Given the description of an element on the screen output the (x, y) to click on. 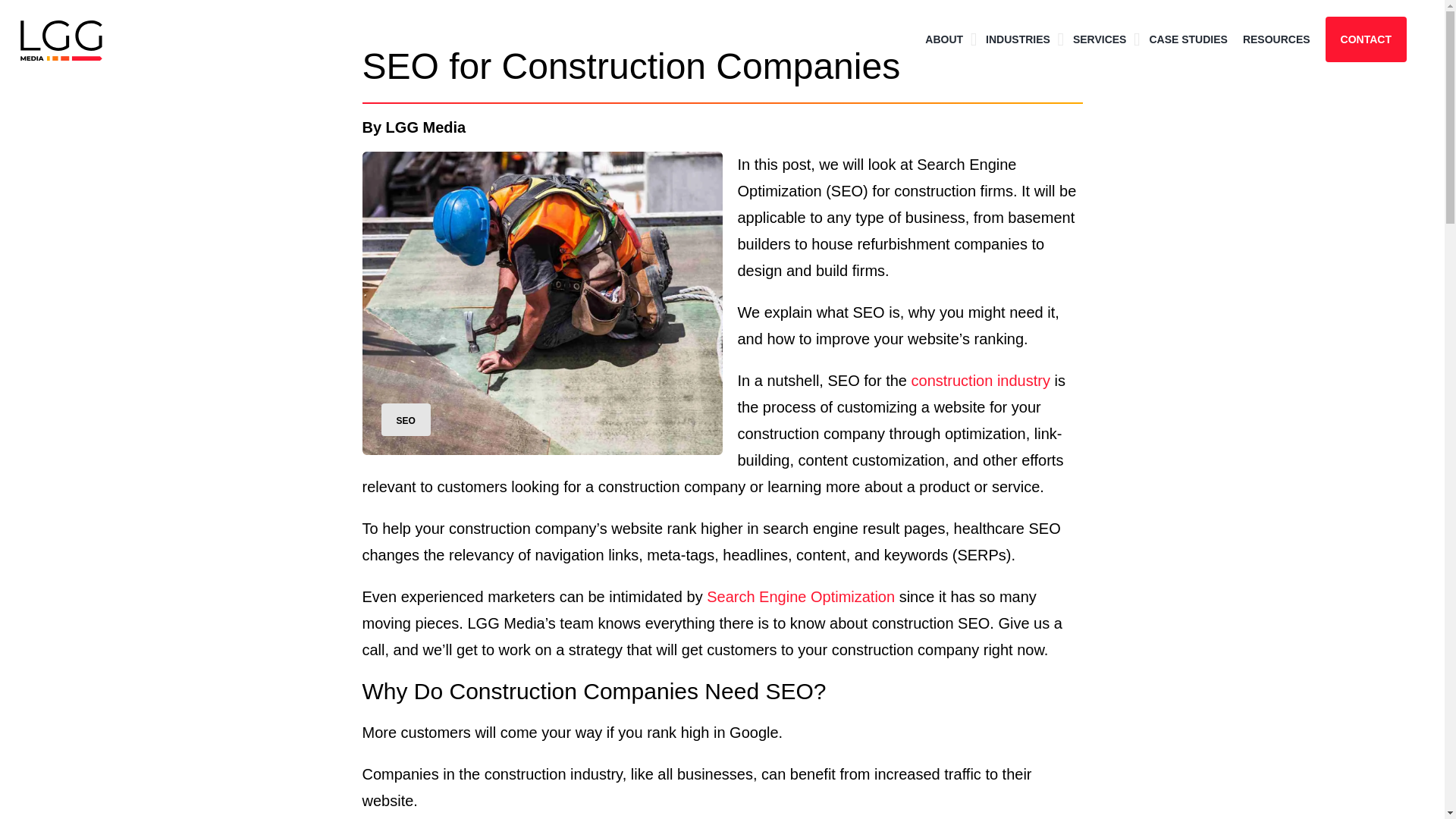
ABOUT (943, 39)
CASE STUDIES (1187, 39)
CONTACT (1365, 38)
INDUSTRIES (1017, 39)
RESOURCES (1276, 39)
SERVICES (1099, 39)
SEO (404, 419)
